Given the description of an element on the screen output the (x, y) to click on. 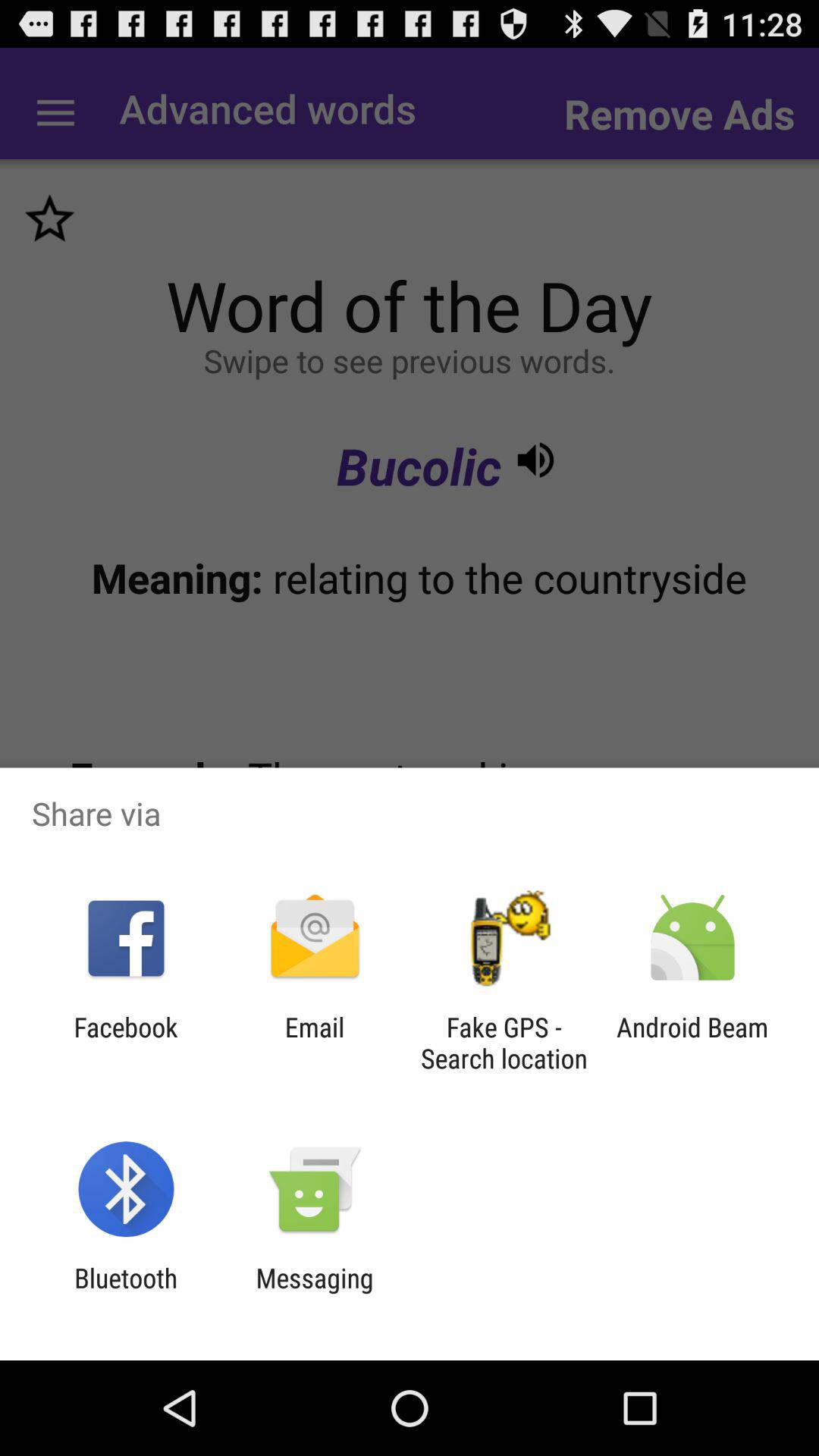
tap messaging (314, 1293)
